Given the description of an element on the screen output the (x, y) to click on. 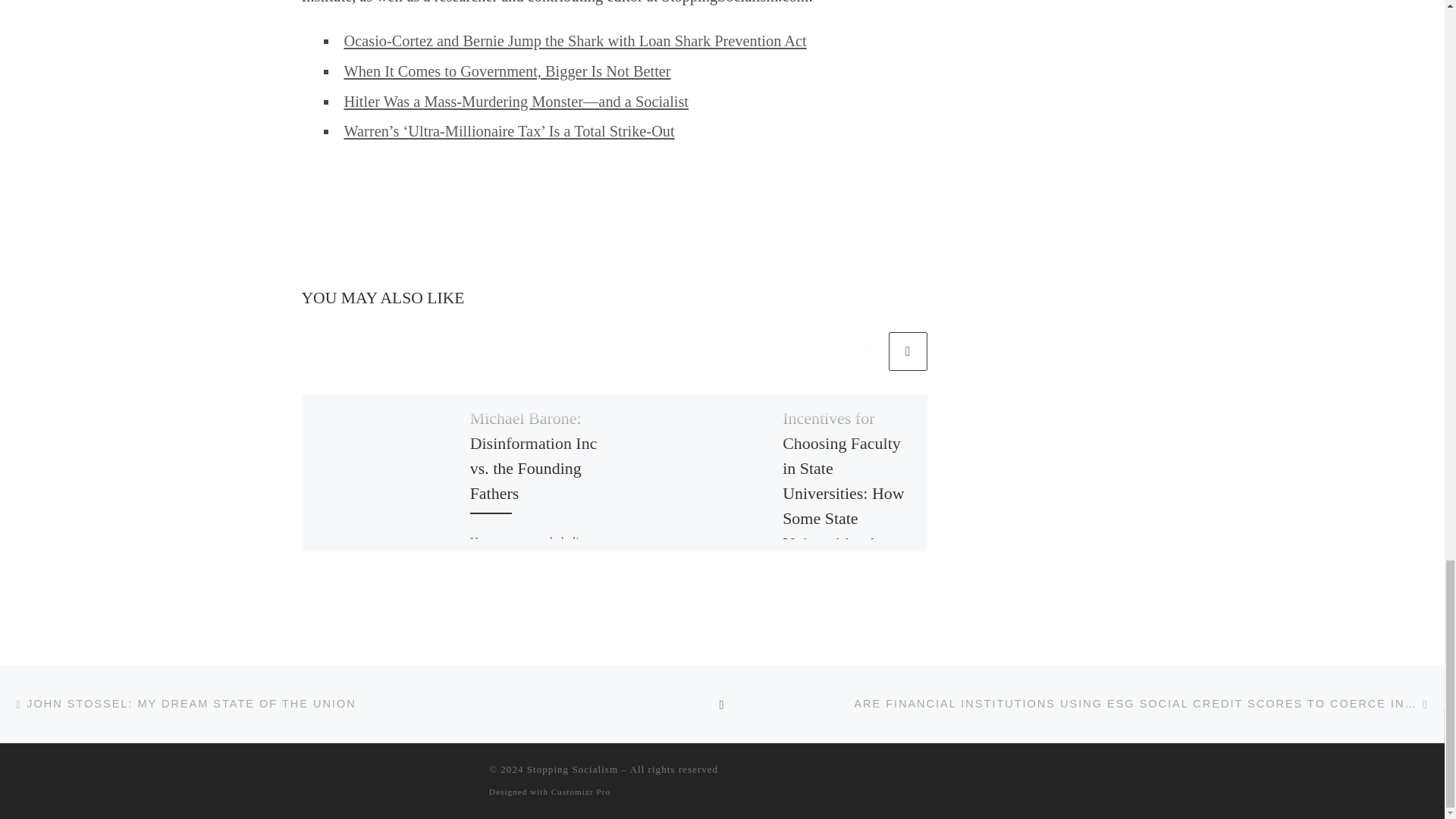
Stopping Socialism (572, 768)
Previous related articles (866, 351)
Customizr Pro (580, 791)
Next related articles (907, 351)
